Given the description of an element on the screen output the (x, y) to click on. 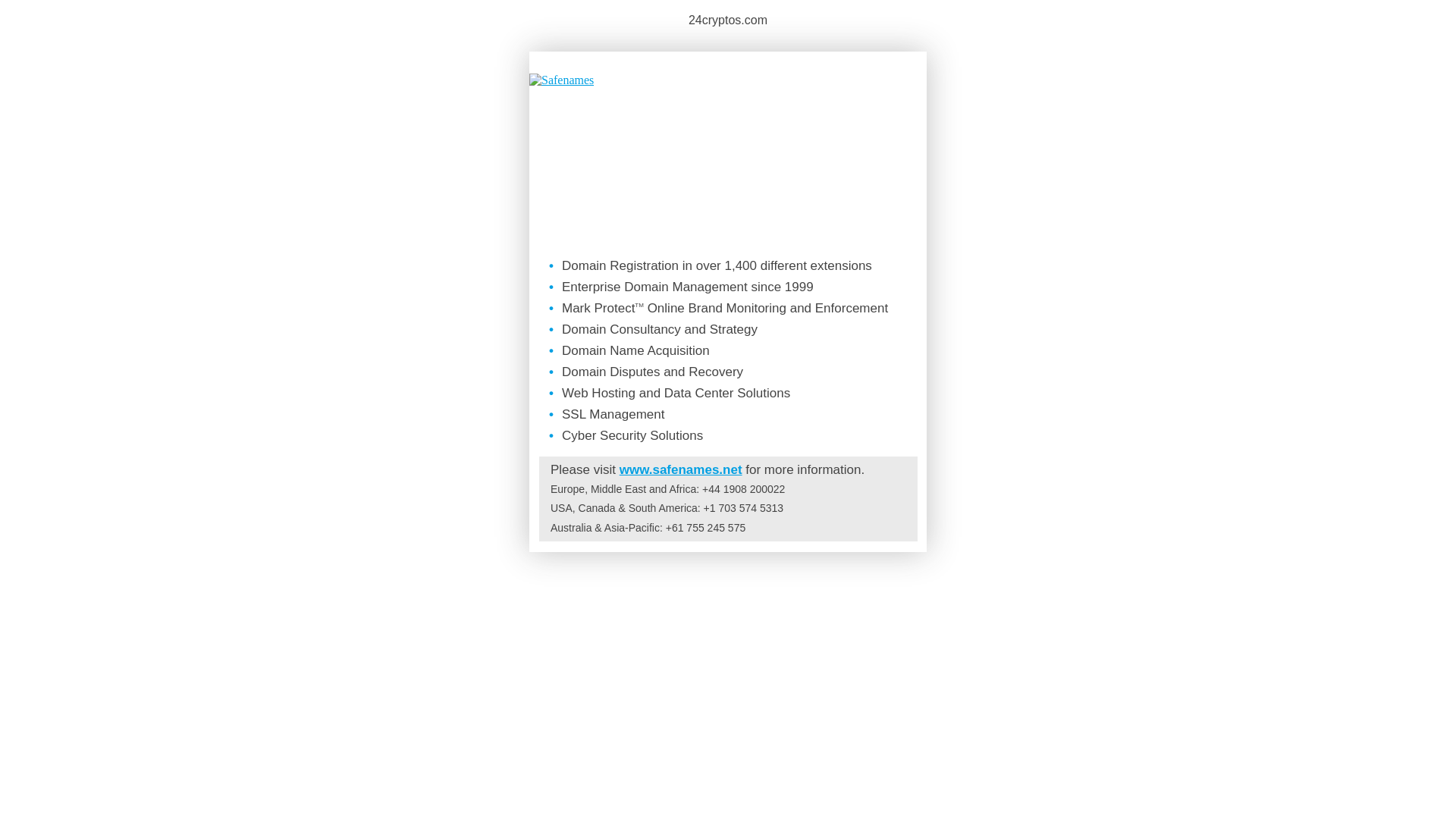
www.safenames.net Element type: text (680, 469)
